Given the description of an element on the screen output the (x, y) to click on. 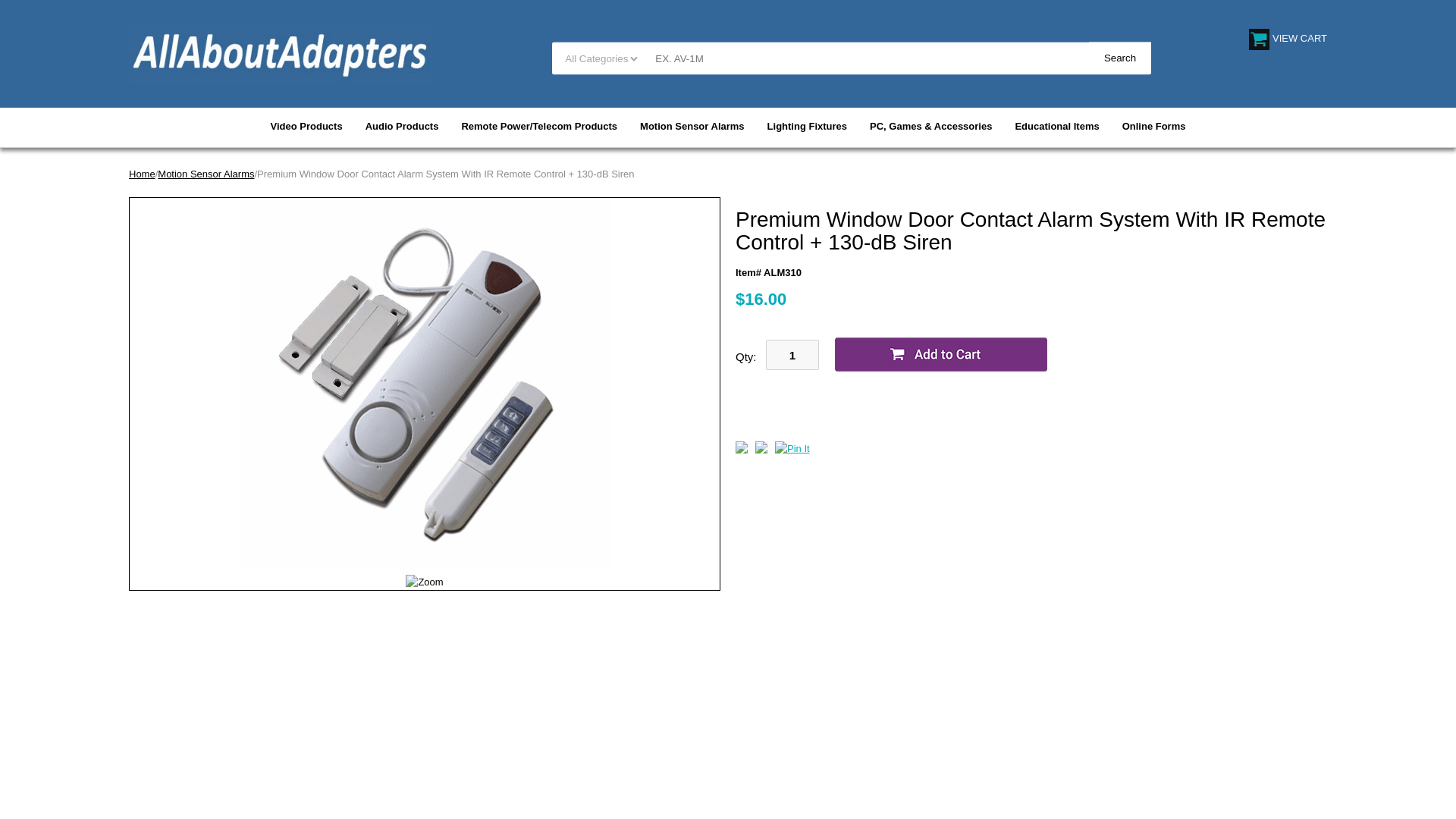
Search (1120, 57)
1 (791, 354)
Audio Products (401, 126)
Video Products (306, 126)
VIEW CART (1287, 38)
Pin It (791, 448)
Add to cart (940, 354)
AllaboutAdapters.com (280, 52)
Search (1120, 57)
Tweet (741, 449)
